Given the description of an element on the screen output the (x, y) to click on. 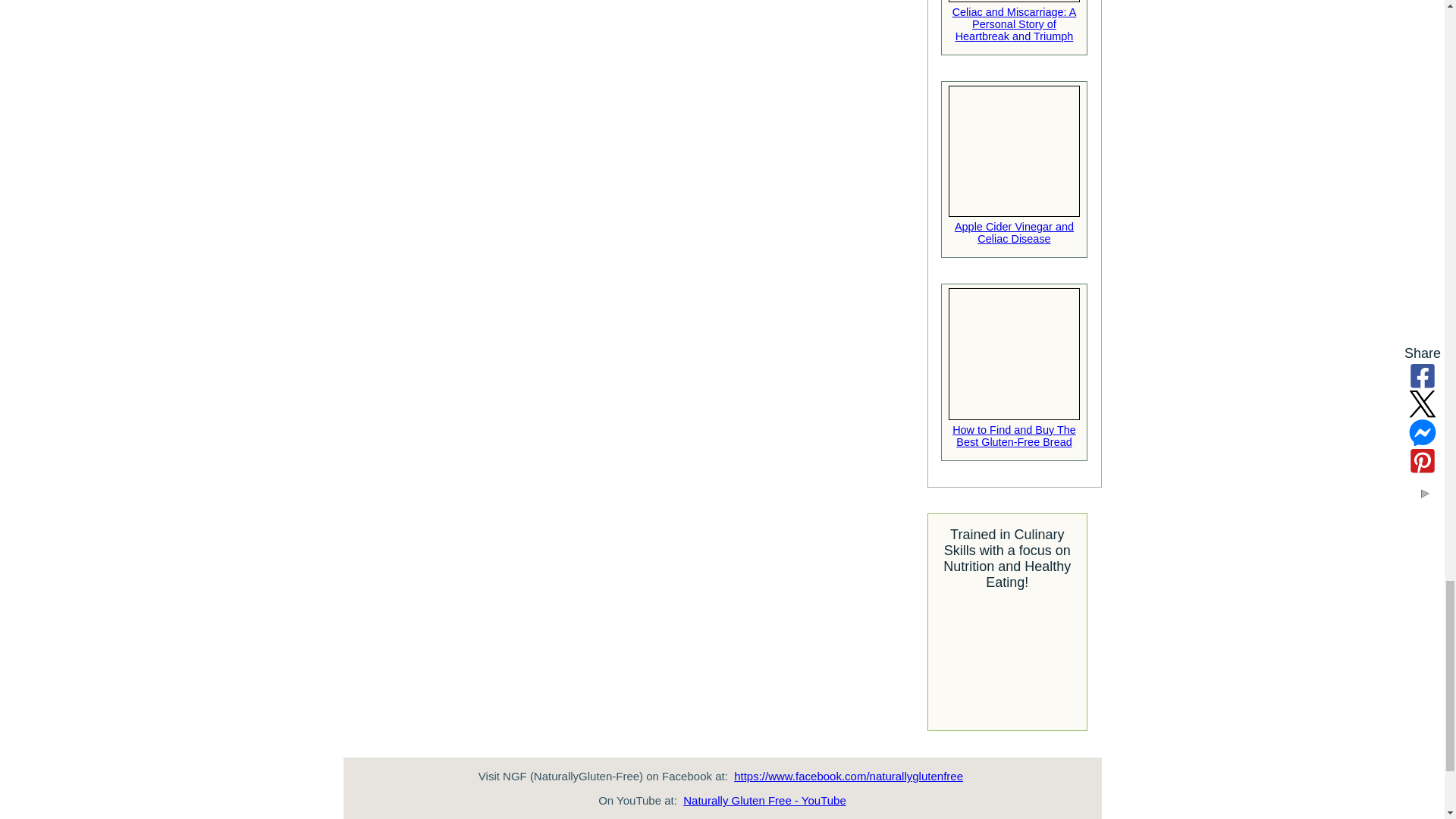
Go to Apple Cider Vinegar and Celiac Disease (1014, 224)
Go to Celiac and Miscarriage (1014, 21)
Go to Buying Gluten-Free Bread (1014, 427)
pregnant belly with hands forming a heart. (1014, 1)
Patty Maguire Culinary Skills Certificate (1007, 658)
